Given the description of an element on the screen output the (x, y) to click on. 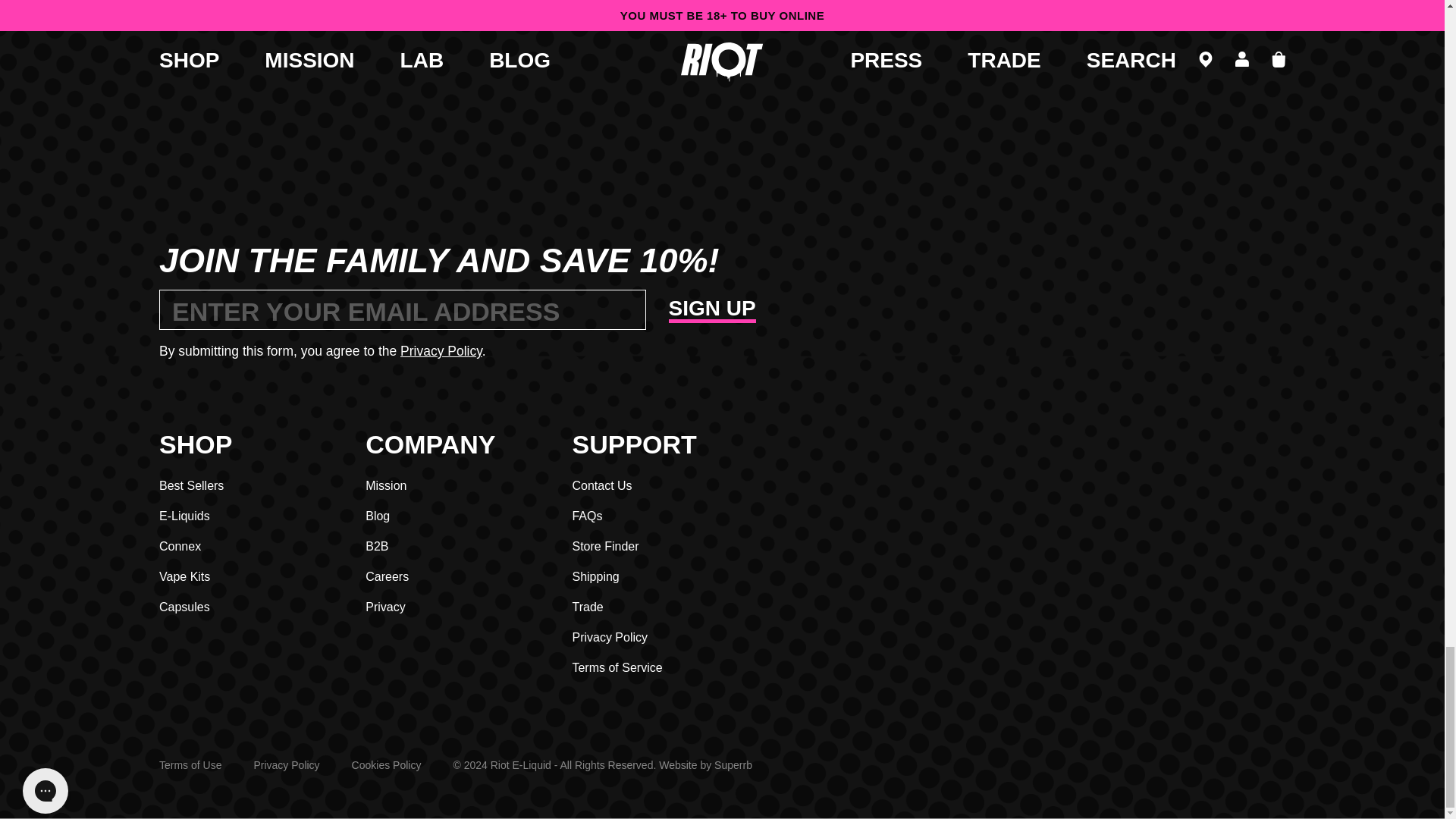
Riot Rehab (1159, 272)
Website by Superrb (733, 765)
Riot Noise (1251, 271)
